Given the description of an element on the screen output the (x, y) to click on. 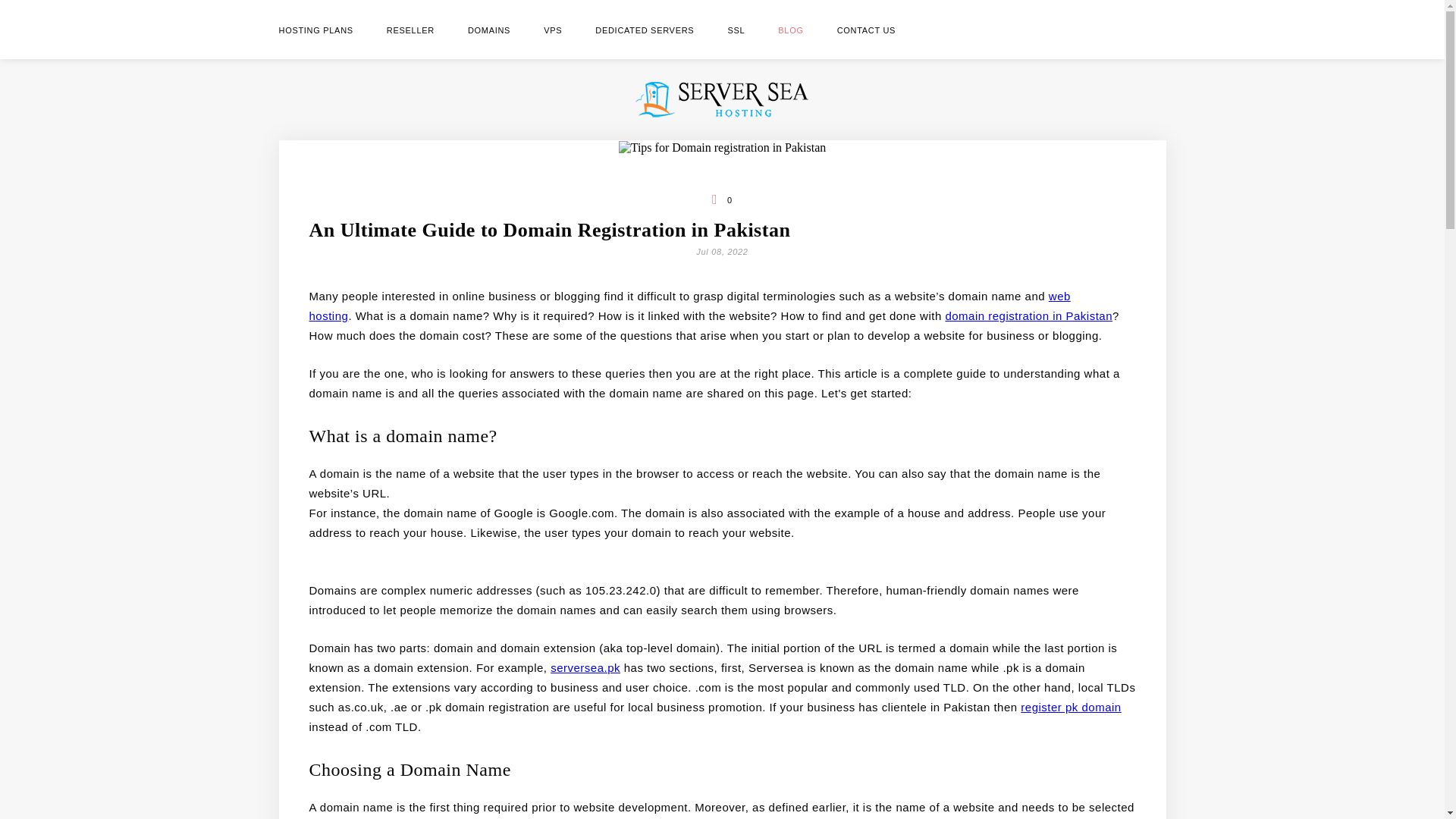
web hosting (689, 305)
RESELLER (410, 30)
domain registration in Pakistan (1028, 315)
BLOG (790, 30)
register pk domain (1070, 707)
VPS (552, 30)
DOMAINS (489, 30)
CONTACT US (866, 30)
HOSTING PLANS (316, 30)
serversea.pk (585, 667)
DEDICATED SERVERS (644, 30)
SSL (735, 30)
